Given the description of an element on the screen output the (x, y) to click on. 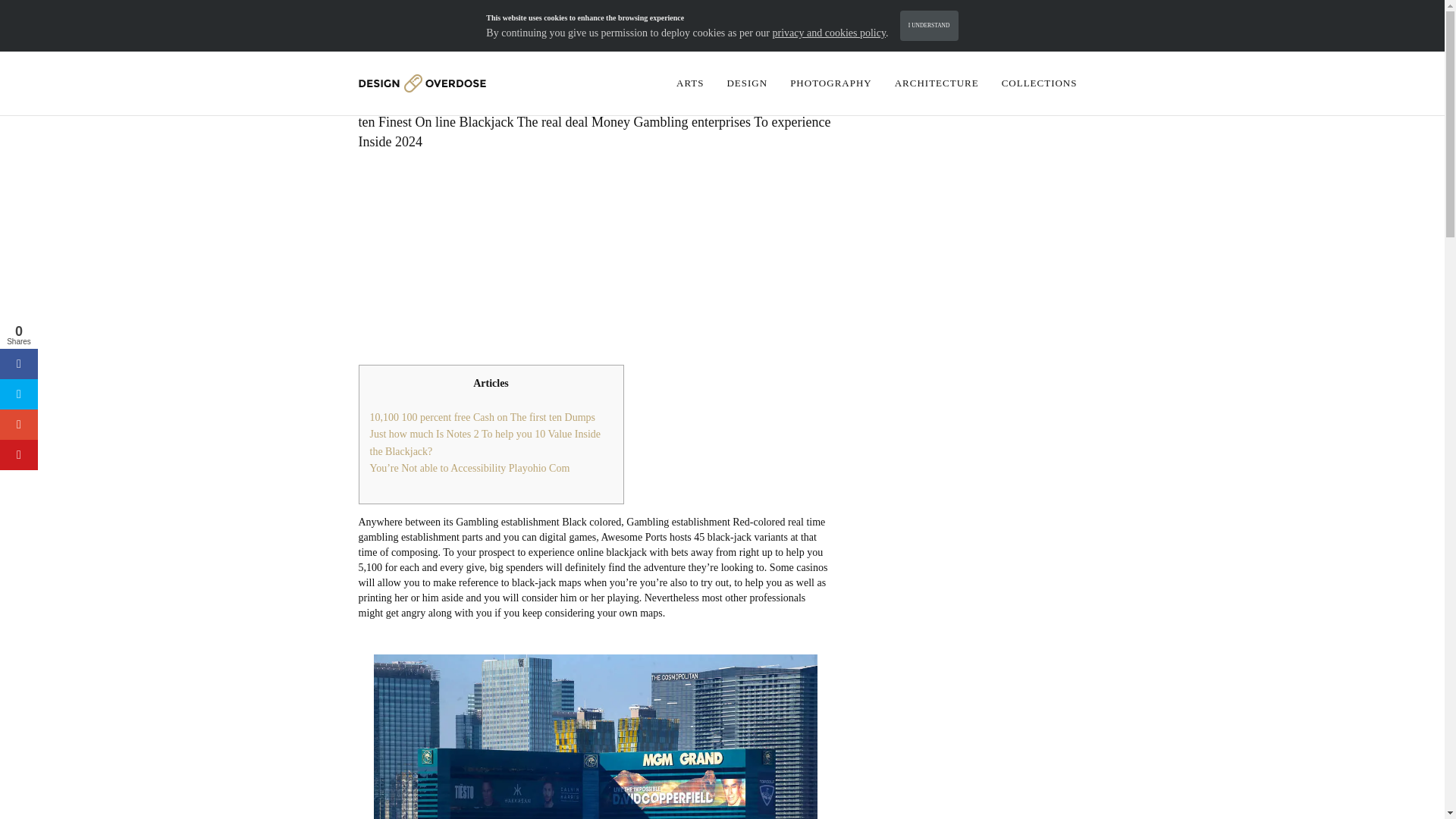
ARCHITECTURE (936, 83)
DESIGN (746, 83)
10,100 100 percent free Cash on The first ten Dumps (482, 417)
PHOTOGRAPHY (830, 83)
COLLECTIONS (1039, 83)
Advertisement (595, 257)
